Given the description of an element on the screen output the (x, y) to click on. 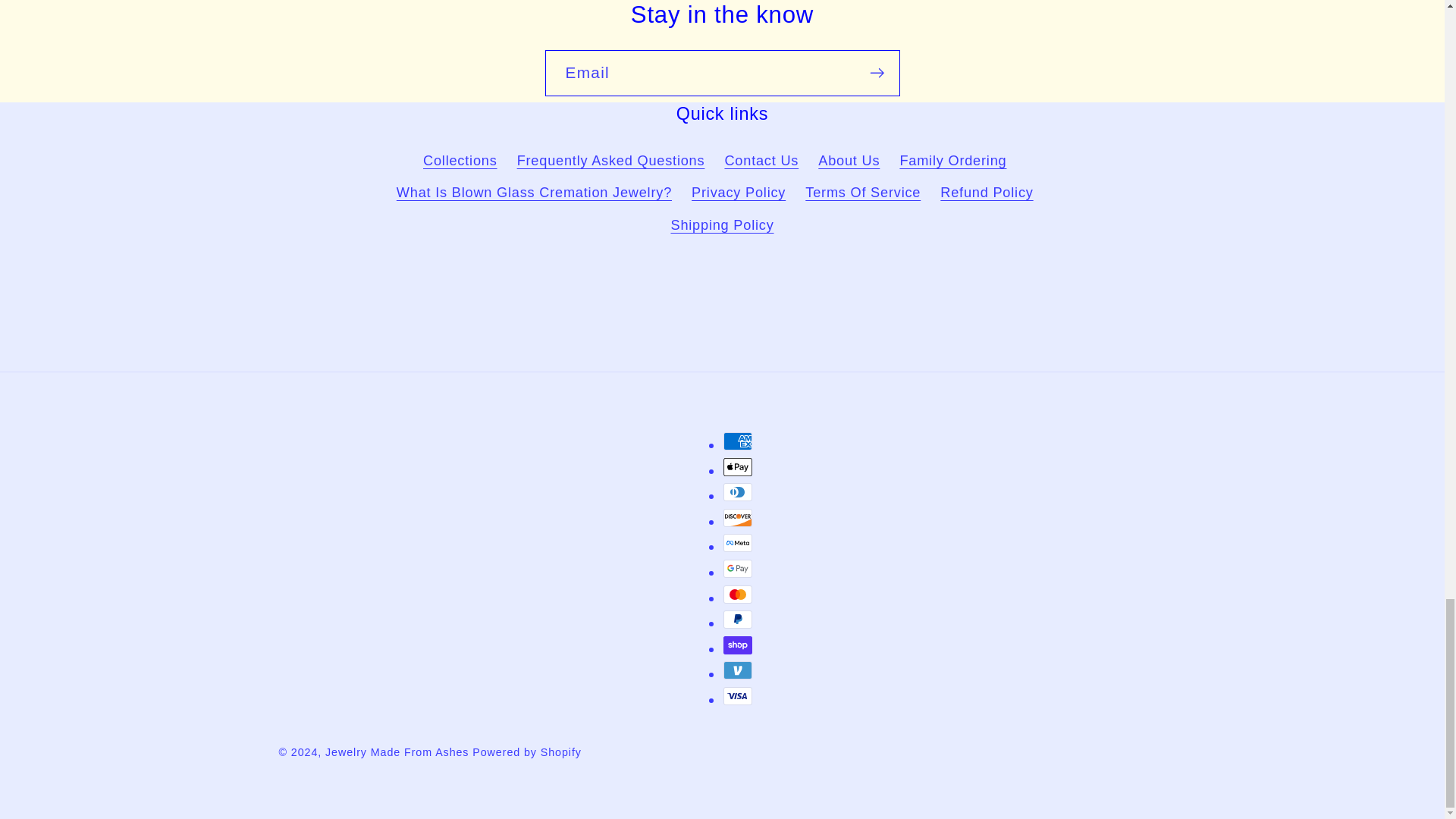
Google Pay (737, 568)
American Express (737, 441)
Meta Pay (737, 542)
Diners Club (737, 492)
Apple Pay (737, 466)
PayPal (737, 619)
Discover (737, 517)
Mastercard (737, 594)
